Given the description of an element on the screen output the (x, y) to click on. 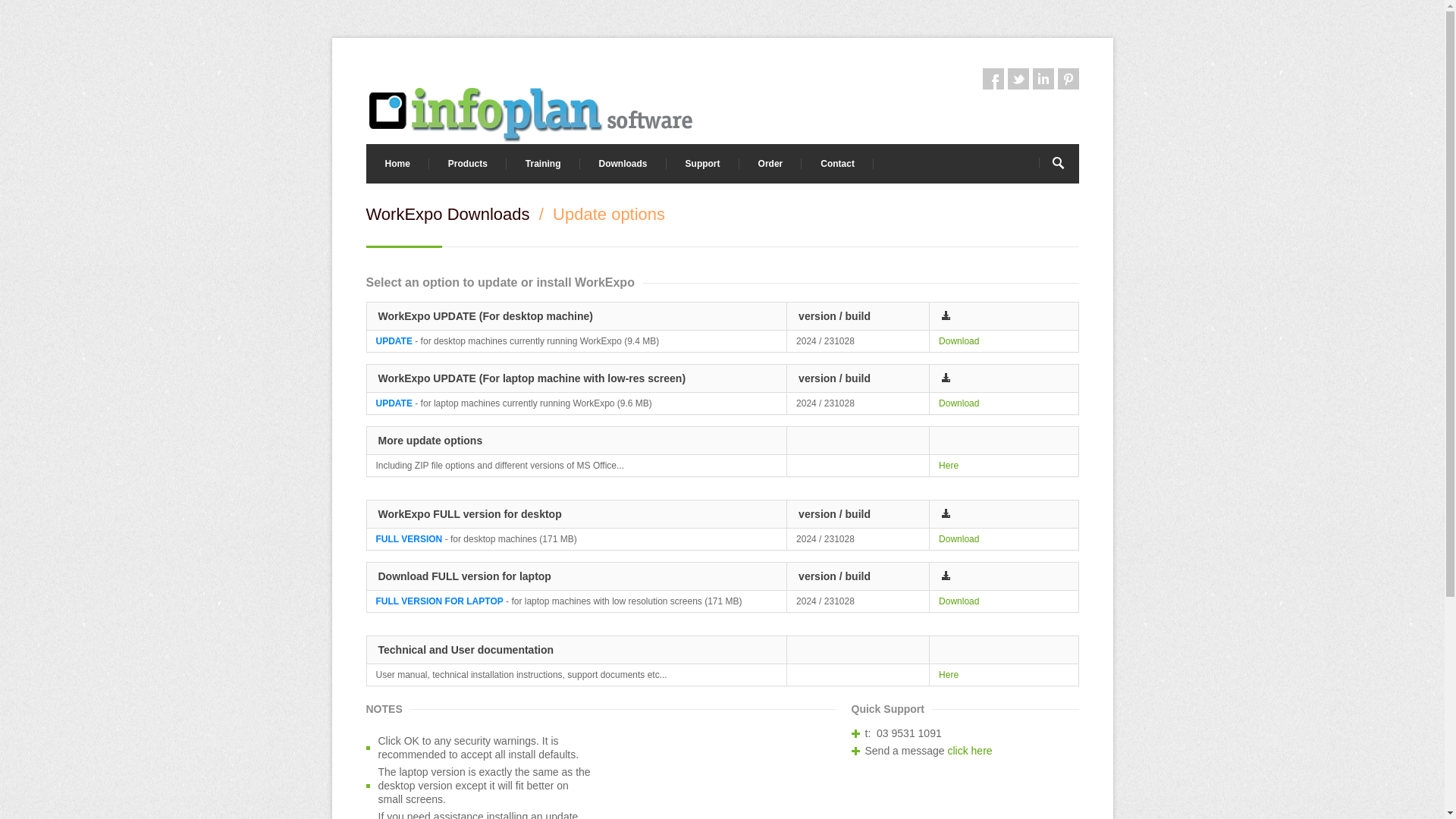
FULL VERSION Element type: text (409, 538)
Download Element type: text (958, 340)
Products Element type: text (467, 163)
Here Element type: text (948, 674)
UPDATE Element type: text (394, 340)
Order Element type: text (770, 163)
Download Element type: text (958, 538)
Downloads Element type: text (623, 163)
Contact Element type: text (837, 163)
Support Element type: text (702, 163)
Training Element type: text (543, 163)
LinkedIn Element type: text (1043, 78)
Twitter Element type: text (1017, 78)
FULL VERSION FOR LAPTOP Element type: text (439, 601)
Here Element type: text (948, 465)
Download Element type: text (958, 601)
Home Element type: text (396, 163)
Download Element type: text (958, 403)
Pintrest Element type: text (1067, 78)
click here Element type: text (969, 750)
Facebook Element type: text (993, 78)
UPDATE Element type: text (394, 403)
